Given the description of an element on the screen output the (x, y) to click on. 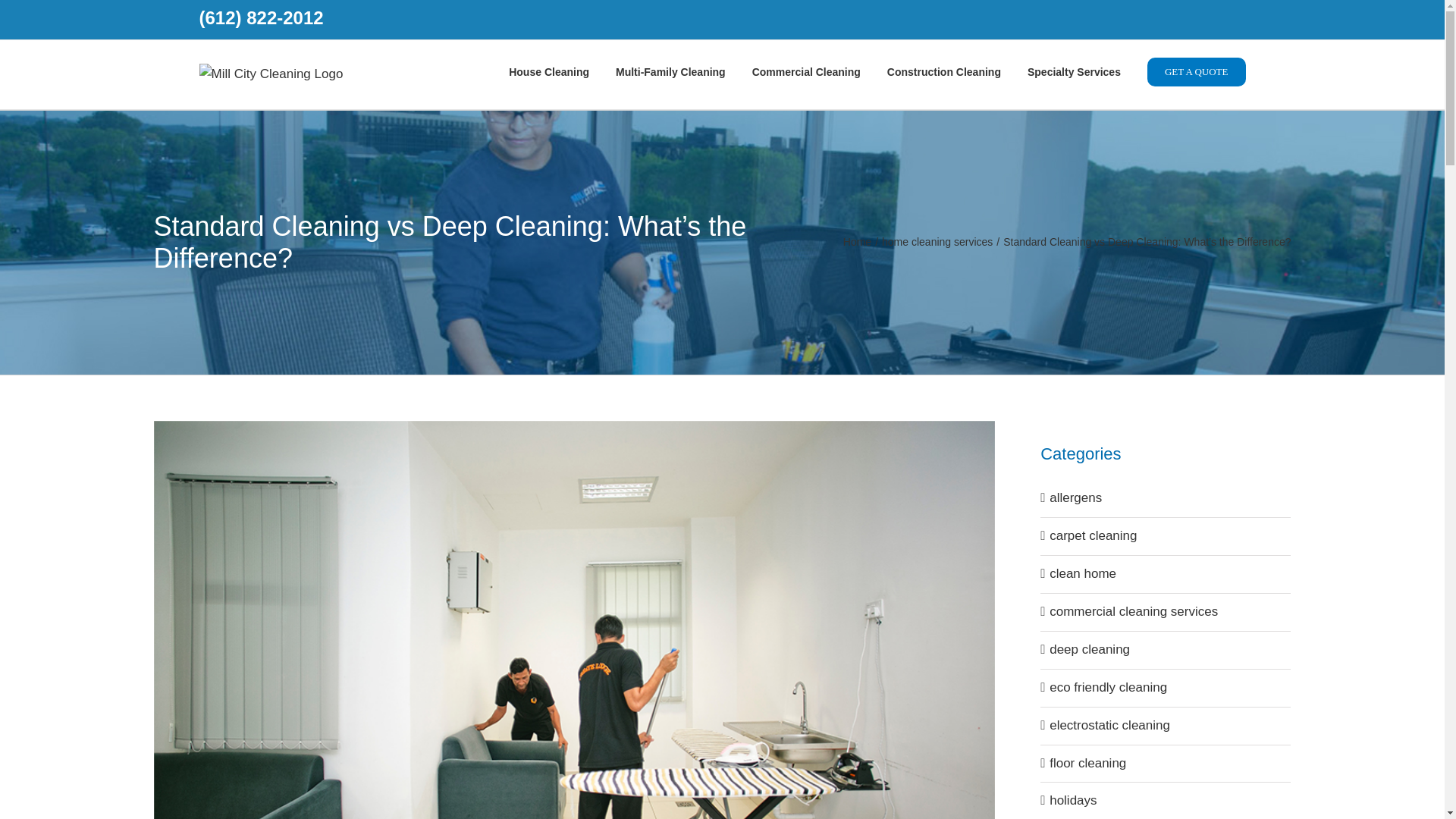
Home (856, 241)
GET A QUOTE (1196, 72)
Specialty Services (1074, 72)
allergens (1165, 498)
commercial cleaning services (1165, 612)
clean home (1165, 574)
Commercial Cleaning (806, 72)
Construction Cleaning (943, 72)
House Cleaning (548, 72)
carpet cleaning (1165, 536)
Multi-Family Cleaning (670, 72)
home cleaning services (937, 241)
